Given the description of an element on the screen output the (x, y) to click on. 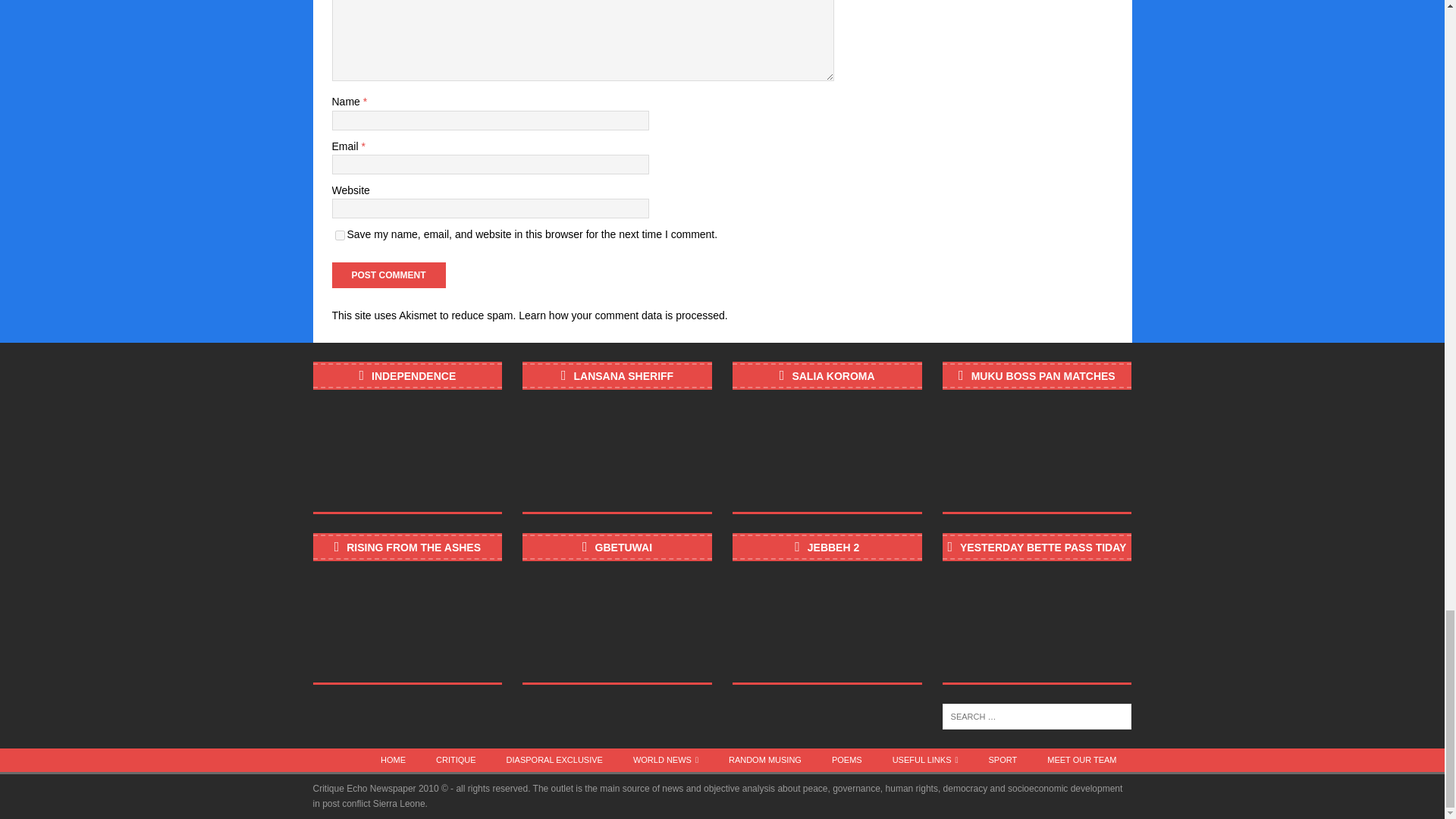
yes (339, 235)
Post Comment (388, 275)
